Given the description of an element on the screen output the (x, y) to click on. 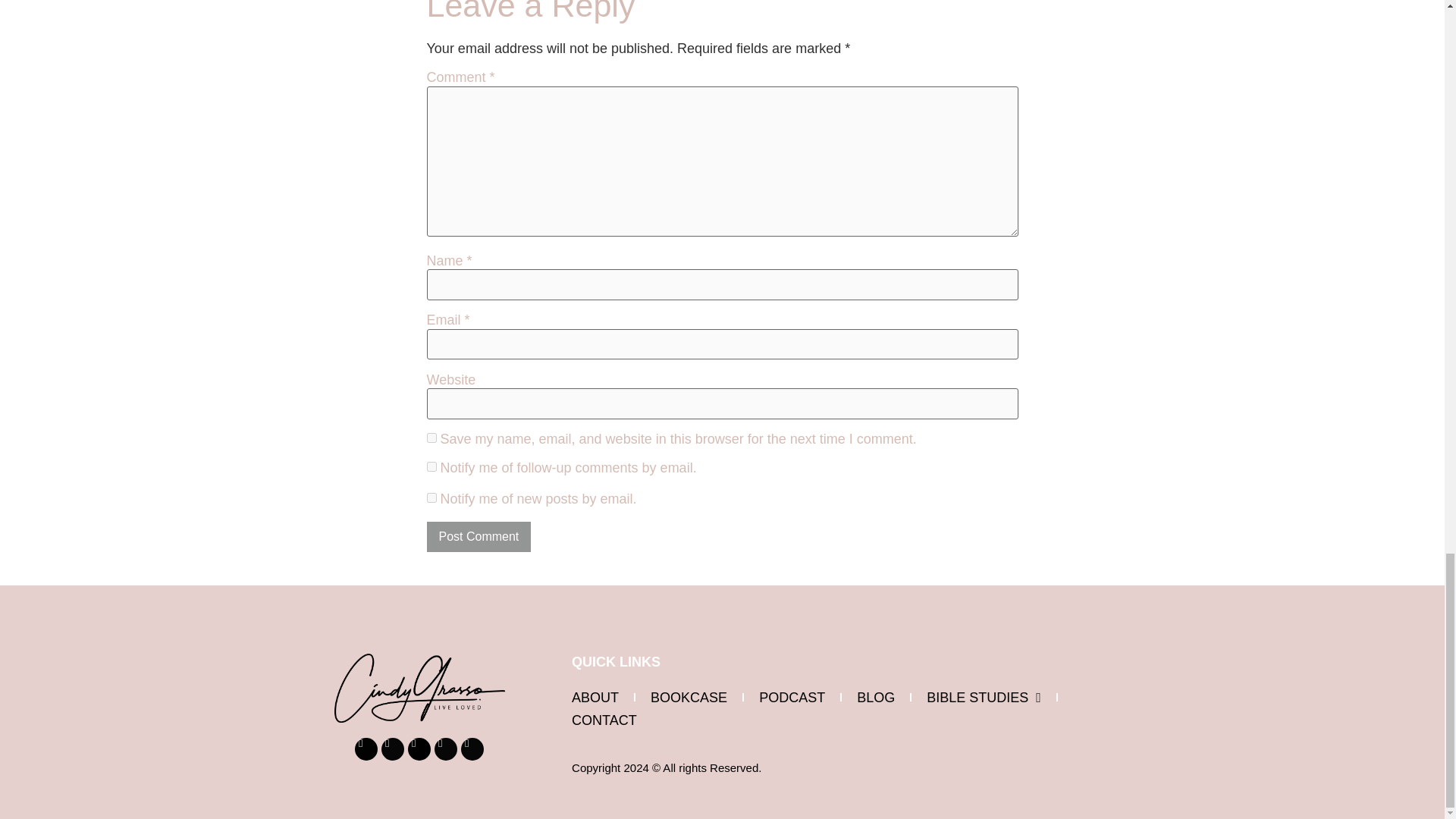
ABOUT (594, 697)
subscribe (430, 497)
Post Comment (478, 536)
BOOKCASE (688, 697)
yes (430, 438)
Post Comment (478, 536)
subscribe (430, 466)
